Given the description of an element on the screen output the (x, y) to click on. 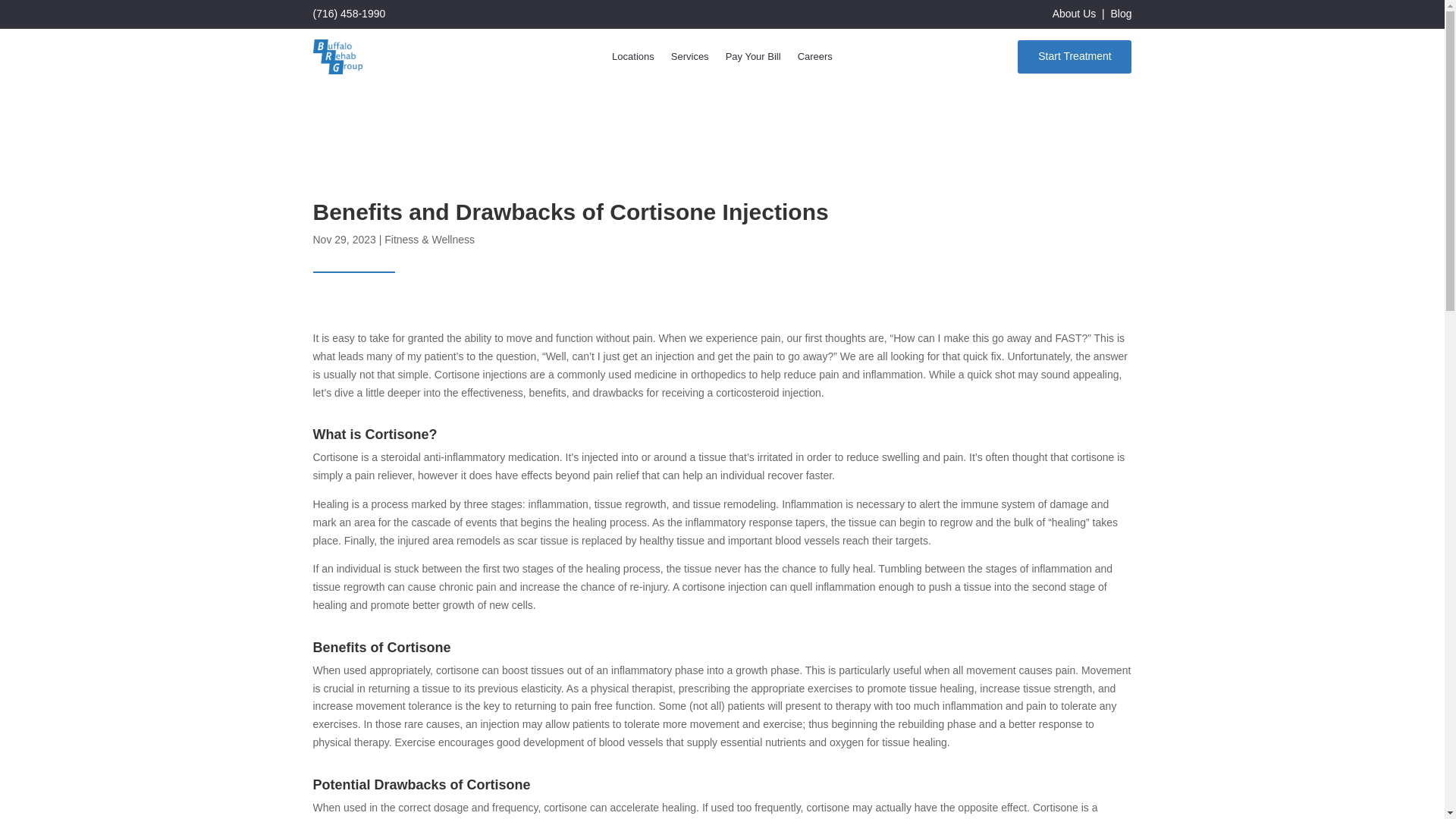
Careers (814, 59)
Services (690, 59)
About Us (1074, 13)
Pay Your Bill (752, 59)
Locations (632, 59)
Blog (1120, 13)
Start Treatment (1074, 56)
